Given the description of an element on the screen output the (x, y) to click on. 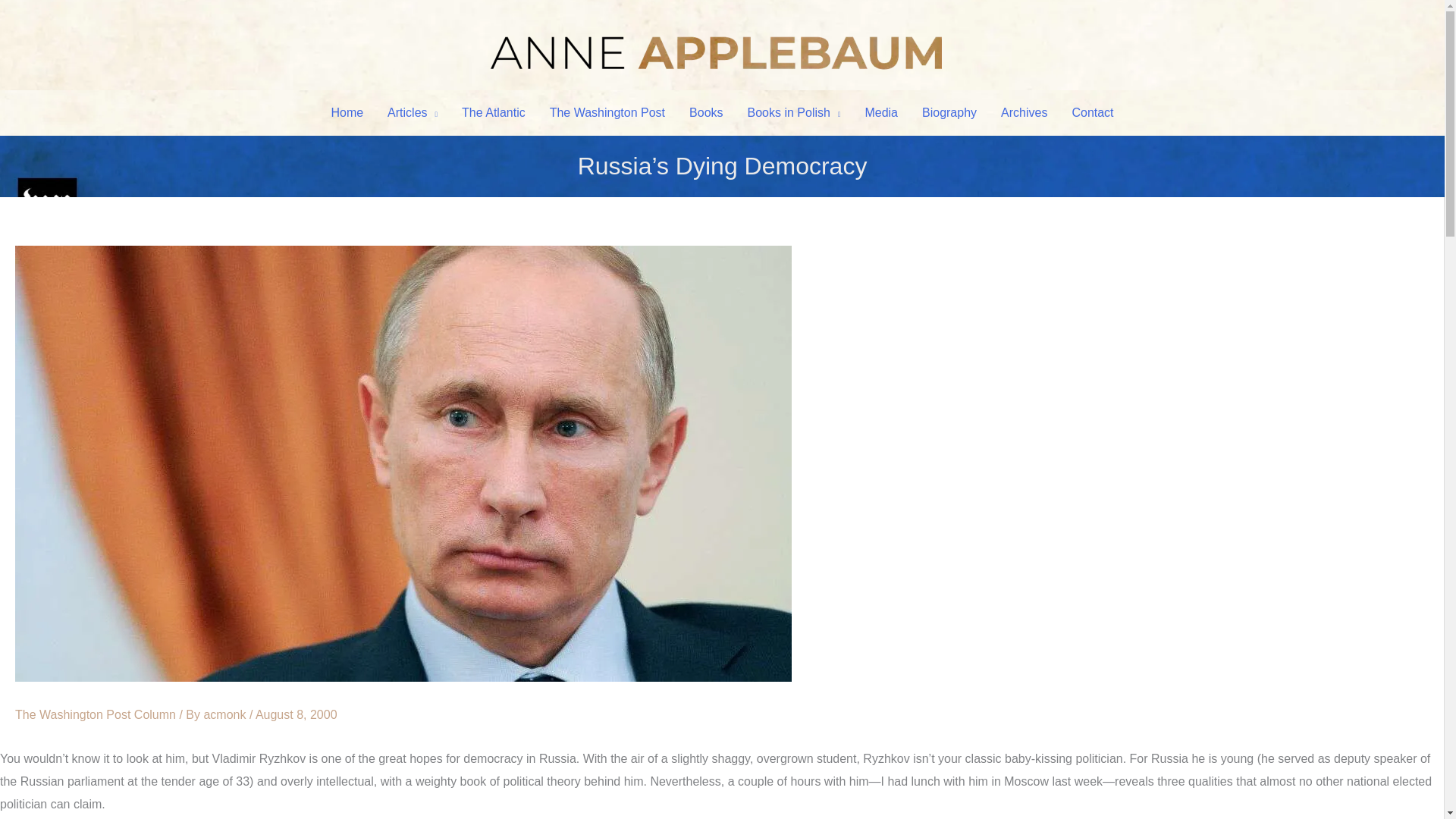
Books in Polish (794, 112)
Home (346, 112)
Articles (412, 112)
Biography (949, 112)
View all posts by acmonk (225, 714)
Archives (1023, 112)
Media (880, 112)
Contact (1092, 112)
Books (706, 112)
The Atlantic (493, 112)
The Washington Post (607, 112)
